Given the description of an element on the screen output the (x, y) to click on. 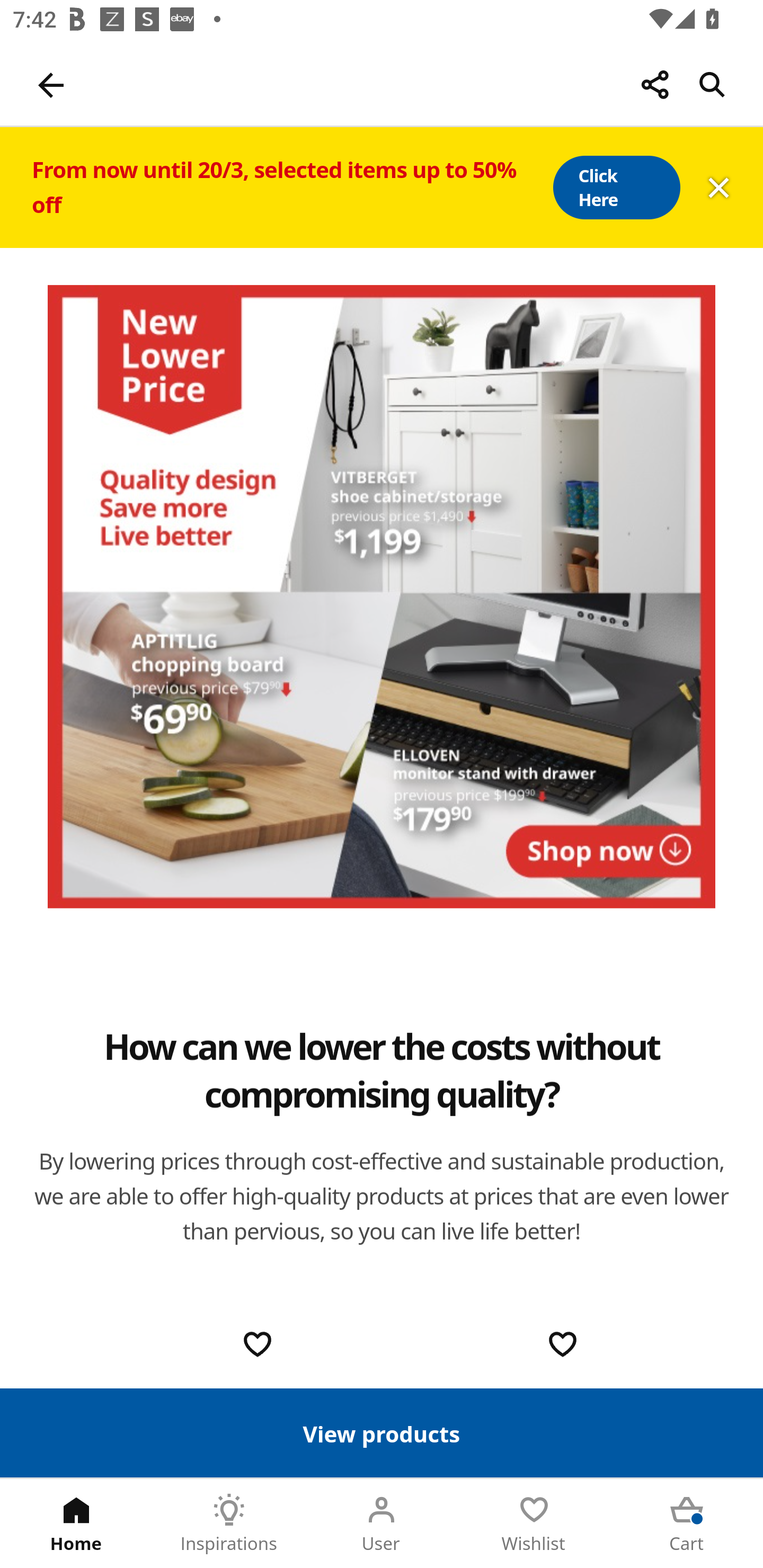
Click Here (615, 187)
new-lower-price#shop-now (381, 596)
View products (381, 1432)
Home
Tab 1 of 5 (76, 1522)
Inspirations
Tab 2 of 5 (228, 1522)
User
Tab 3 of 5 (381, 1522)
Wishlist
Tab 4 of 5 (533, 1522)
Cart
Tab 5 of 5 (686, 1522)
